Given the description of an element on the screen output the (x, y) to click on. 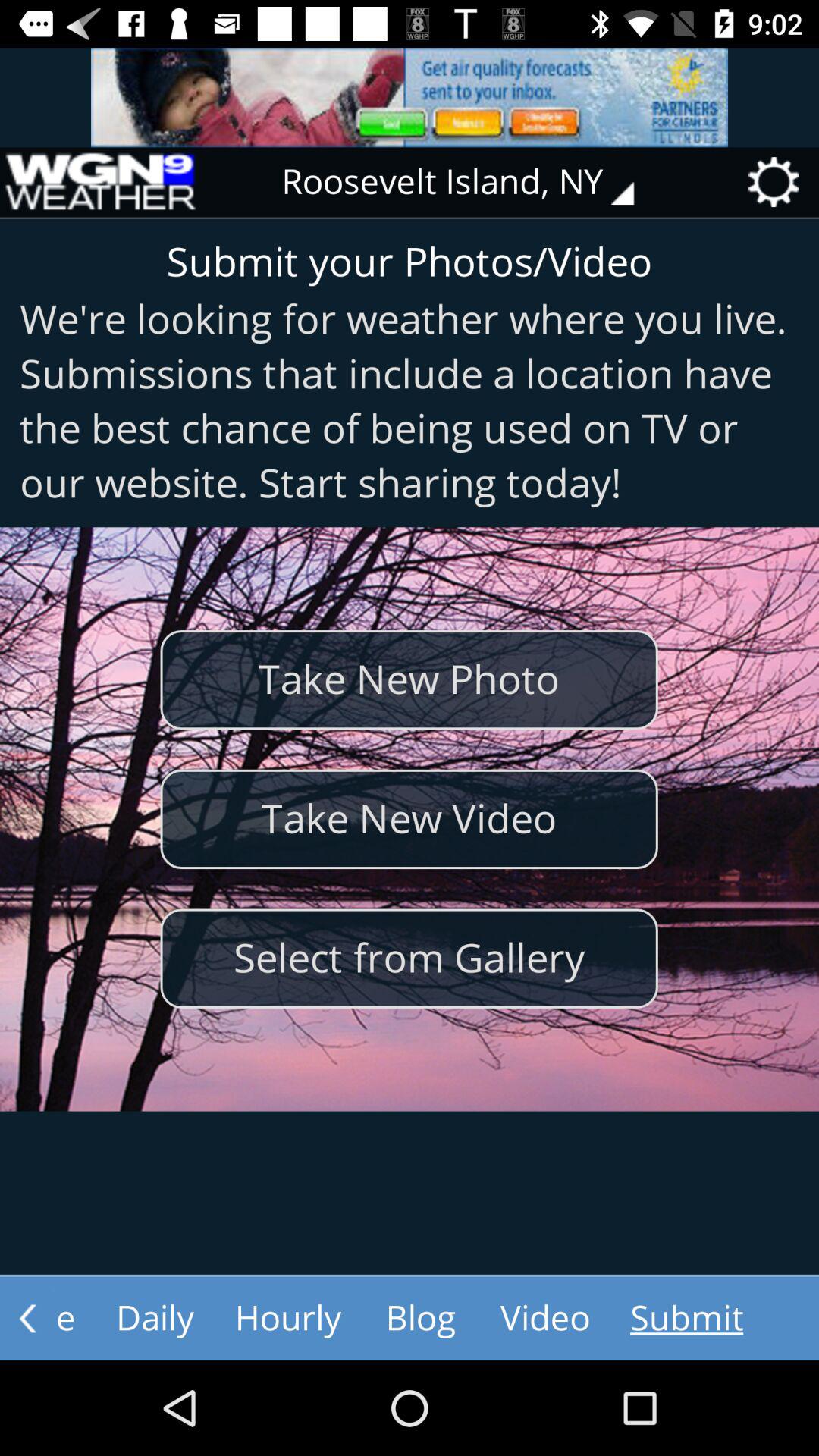
scroll until select from gallery icon (409, 958)
